Given the description of an element on the screen output the (x, y) to click on. 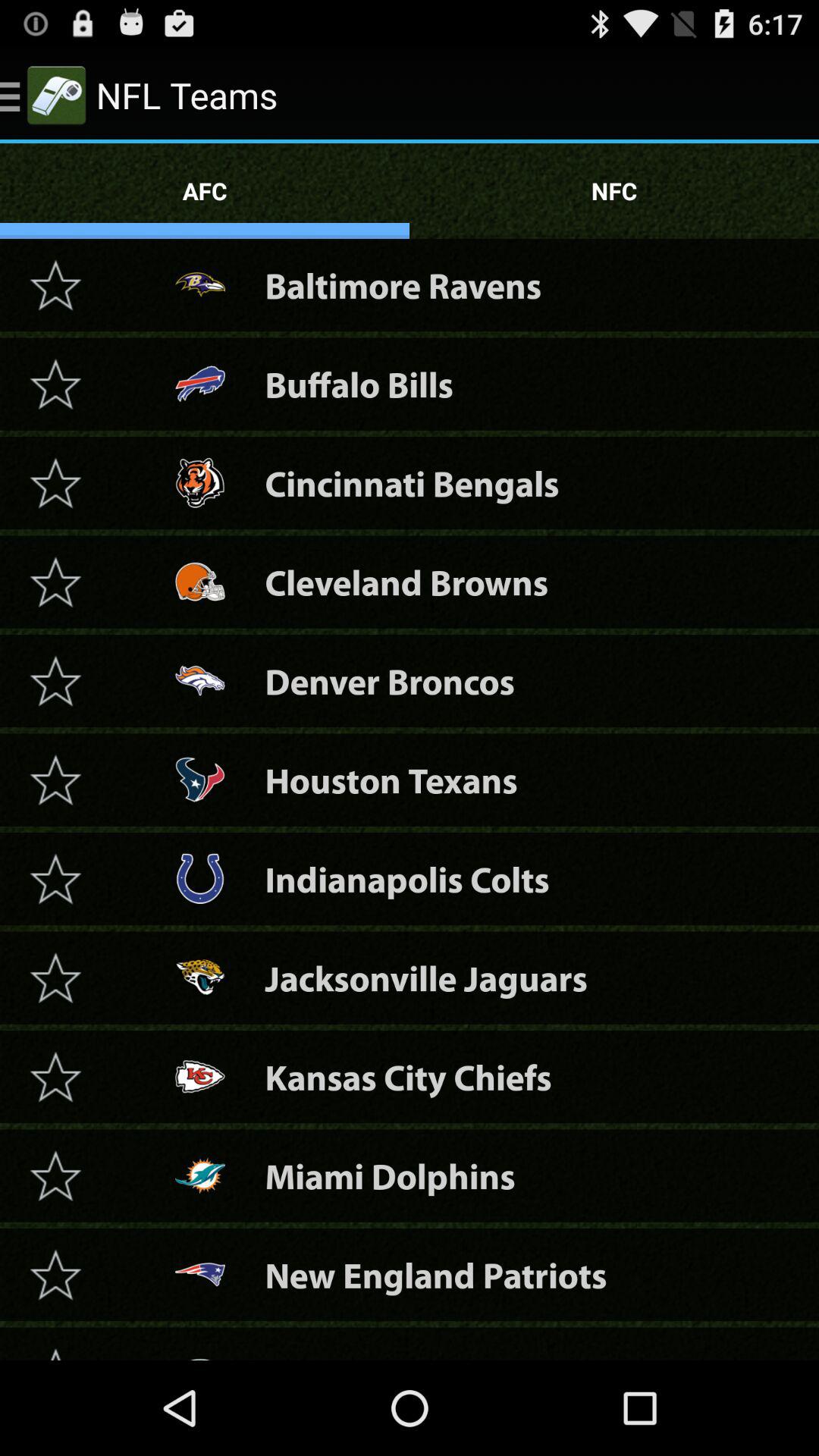
open the item next to afc item (614, 190)
